Given the description of an element on the screen output the (x, y) to click on. 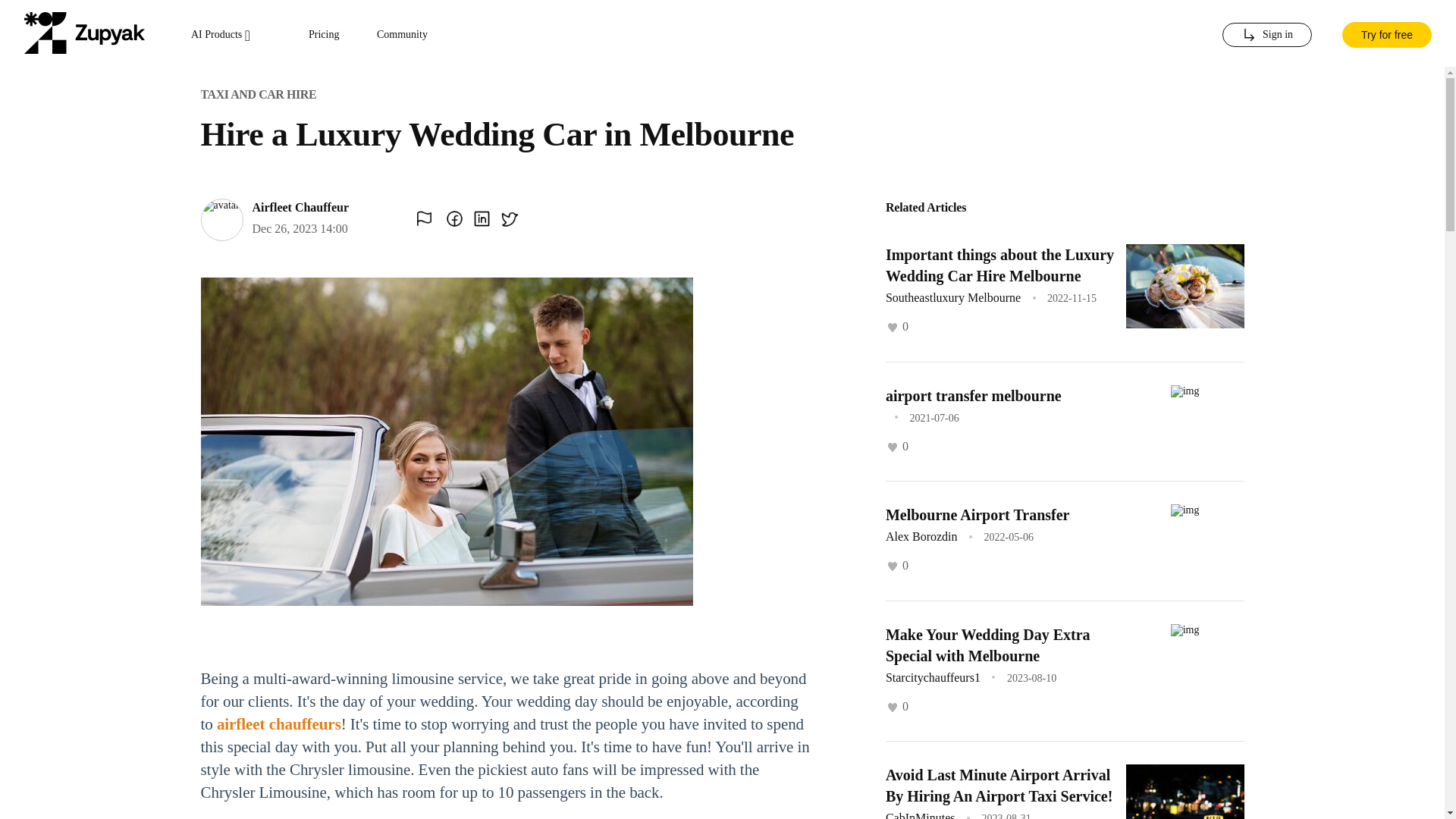
TAXI AND CAR HIRE (257, 93)
airport transfer melbourne (973, 394)
 Sign in (1267, 34)
airfleet chauffeurs (278, 723)
Melbourne Airport Transfer (977, 514)
Try for free (1386, 33)
Pricing (323, 34)
